Given the description of an element on the screen output the (x, y) to click on. 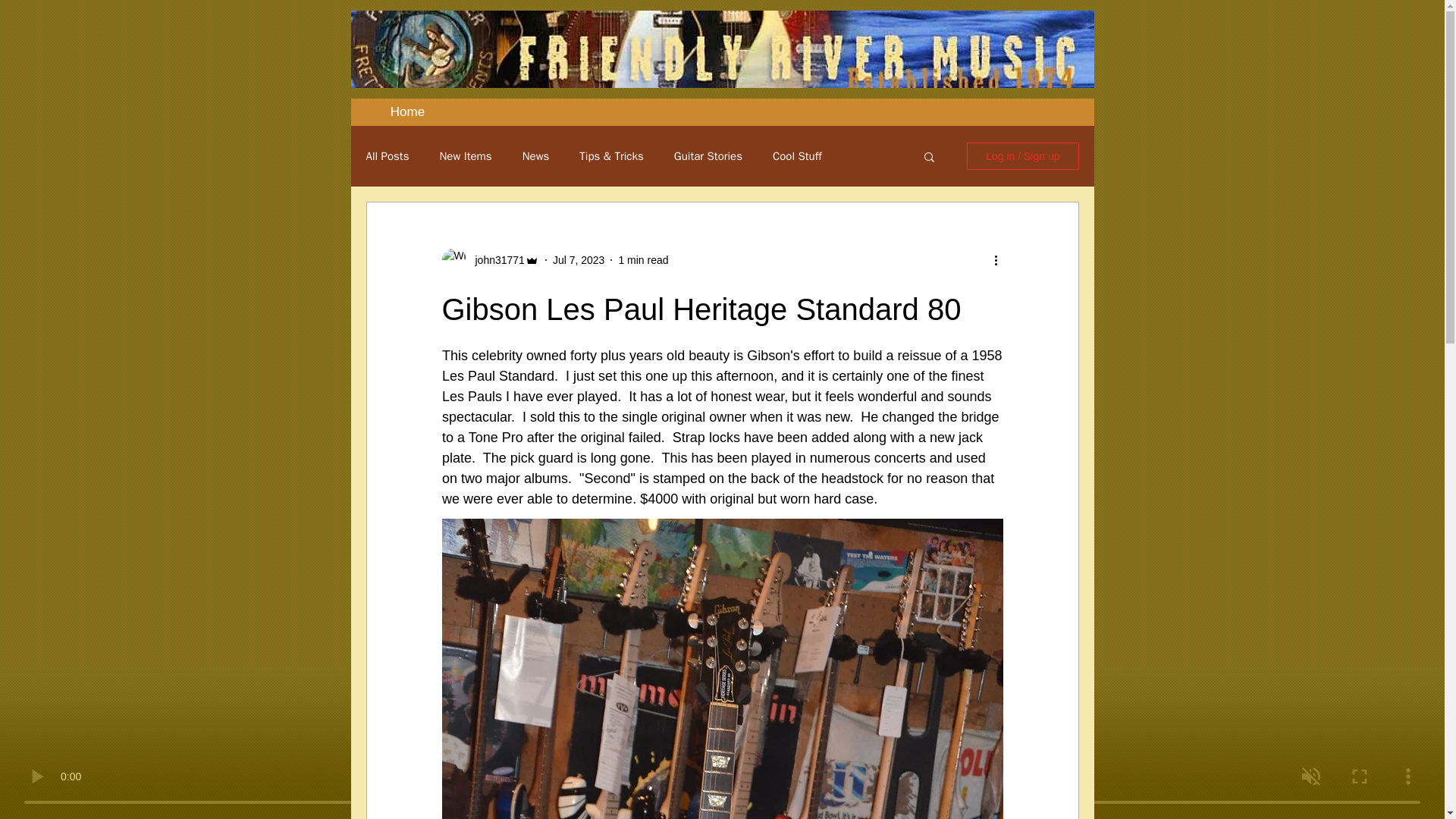
1 min read (642, 259)
john31771 (494, 259)
News (536, 155)
Home (407, 112)
Guitar Stories (708, 155)
All Posts (387, 155)
Cool Stuff (797, 155)
Jul 7, 2023 (579, 259)
New Items (465, 155)
